Given the description of an element on the screen output the (x, y) to click on. 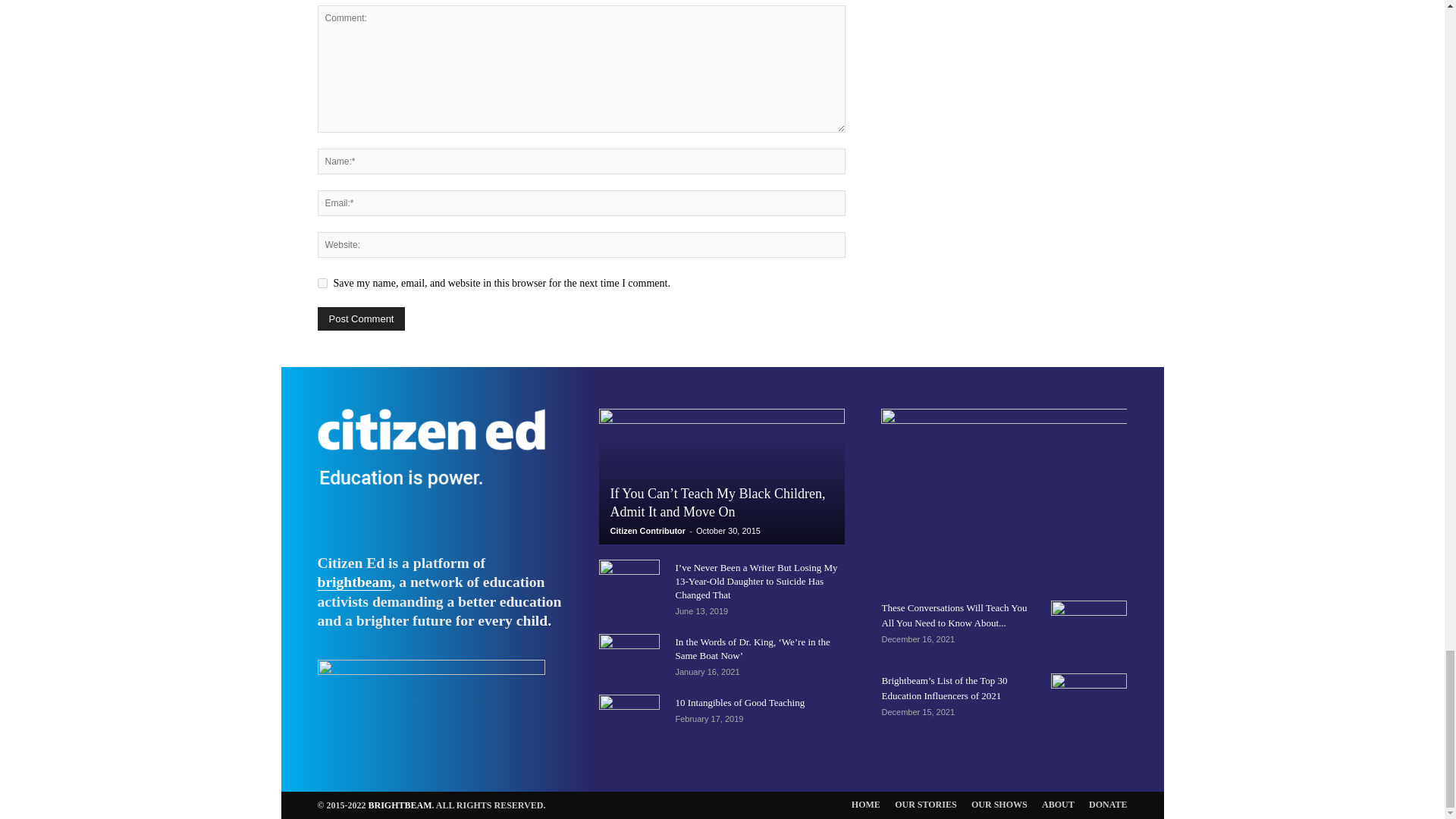
yes (321, 283)
Post Comment (360, 318)
